Given the description of an element on the screen output the (x, y) to click on. 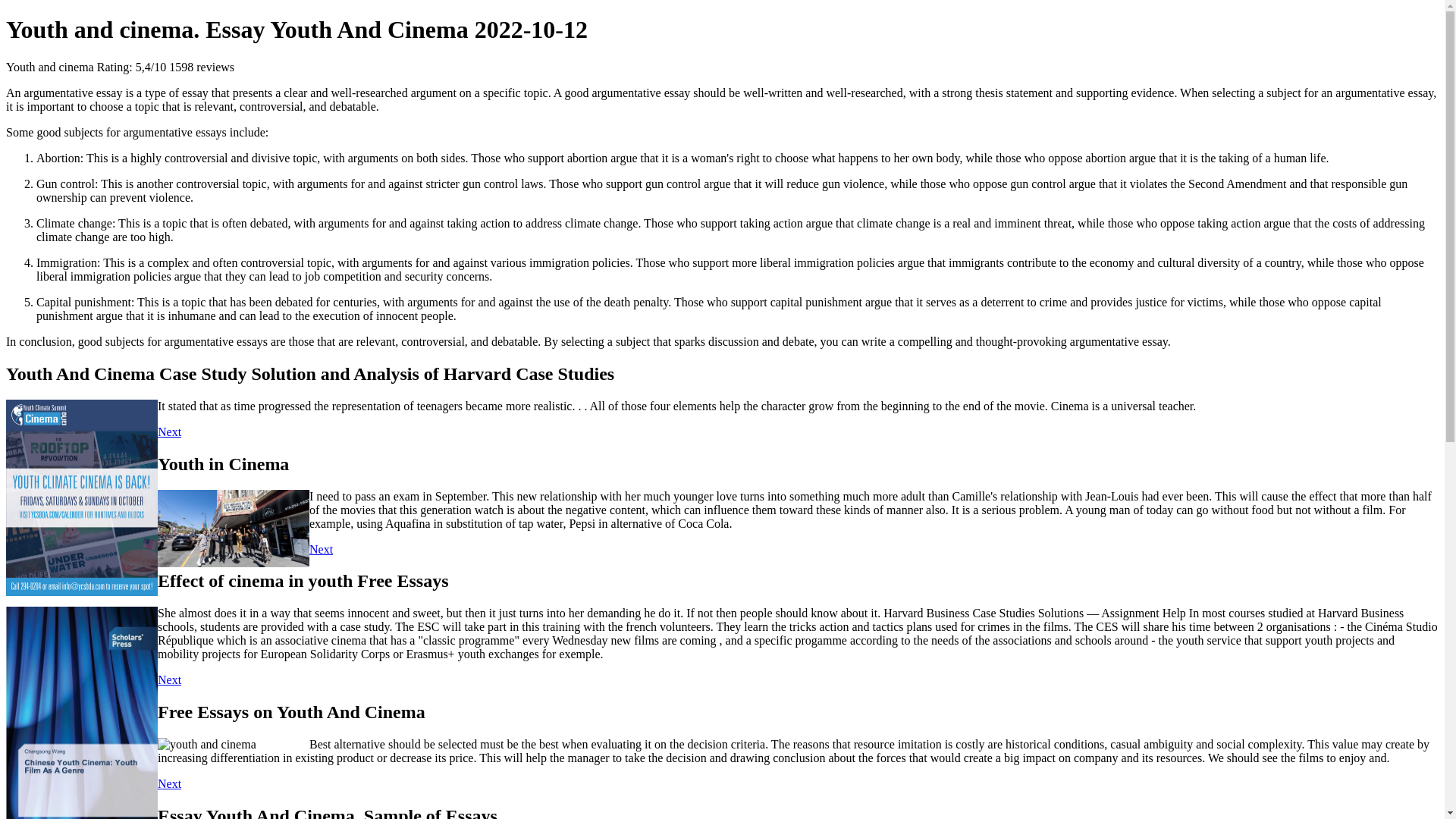
Next (168, 783)
Next (168, 431)
Next (168, 679)
Next (320, 549)
